Given the description of an element on the screen output the (x, y) to click on. 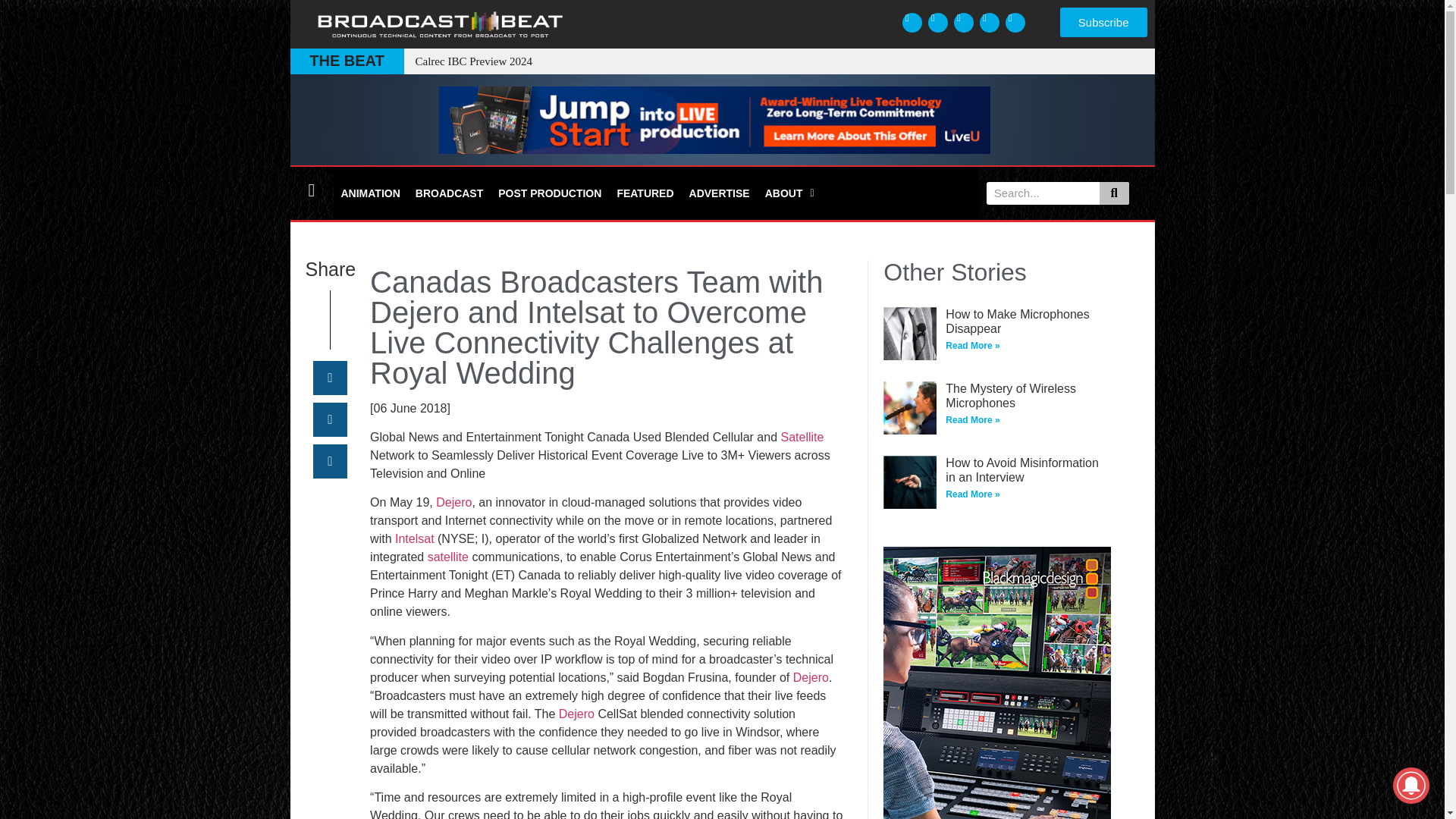
ADVERTISE (719, 193)
BROADCAST (448, 193)
Search (1114, 192)
ANIMATION (370, 193)
Search (1043, 192)
POST PRODUCTION (549, 193)
FEATURED (644, 193)
ABOUT (789, 193)
Subscribe (1103, 21)
Calrec IBC Preview 2024 (473, 61)
